Given the description of an element on the screen output the (x, y) to click on. 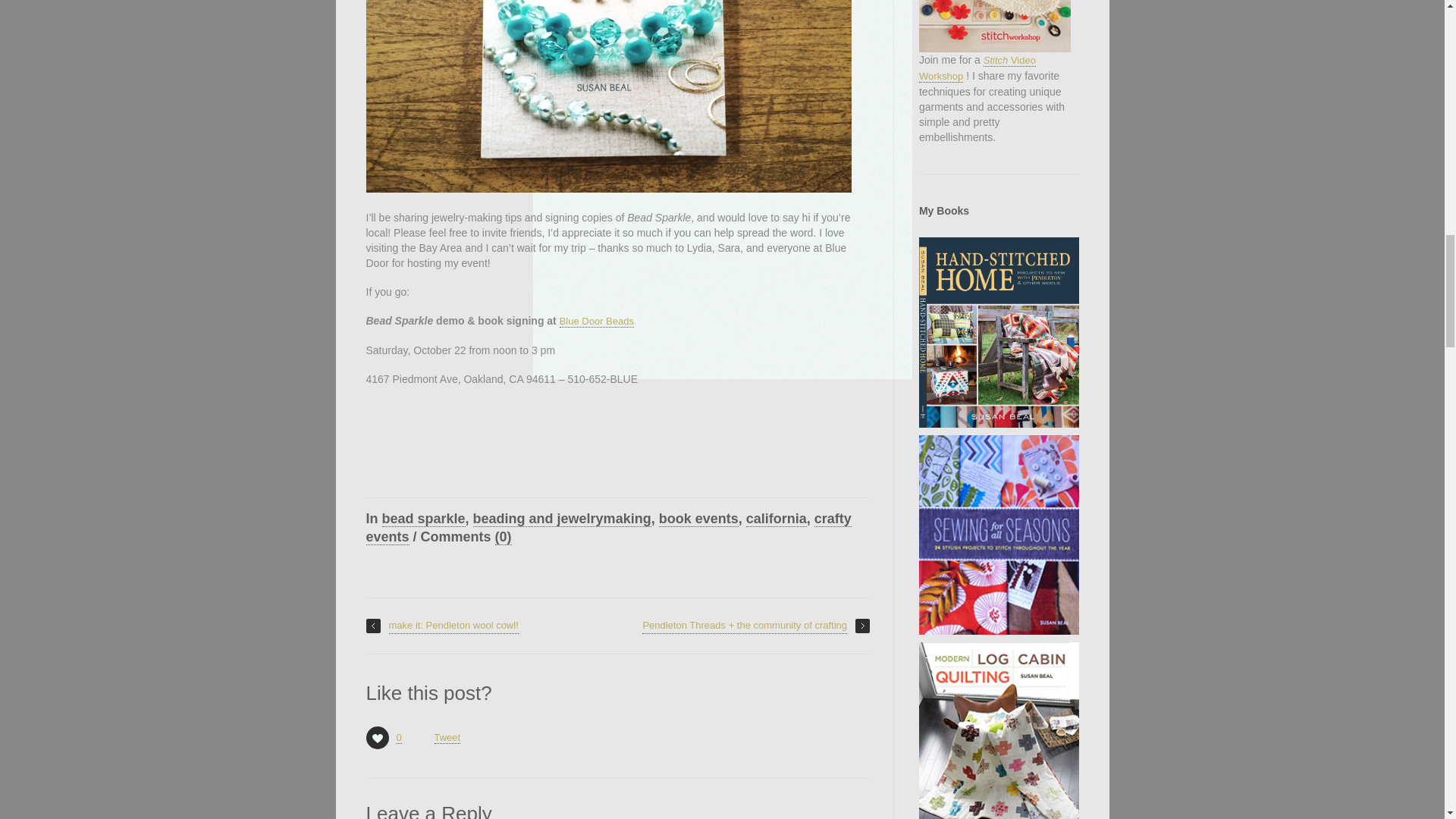
beading and jewelrymaking (561, 519)
california (775, 519)
make it: Pendleton wool cowl! (452, 625)
0 (376, 737)
book events (698, 519)
bead sparkle (423, 519)
Blue Door Beads (596, 321)
crafty events (607, 528)
Tweet (446, 737)
